Given the description of an element on the screen output the (x, y) to click on. 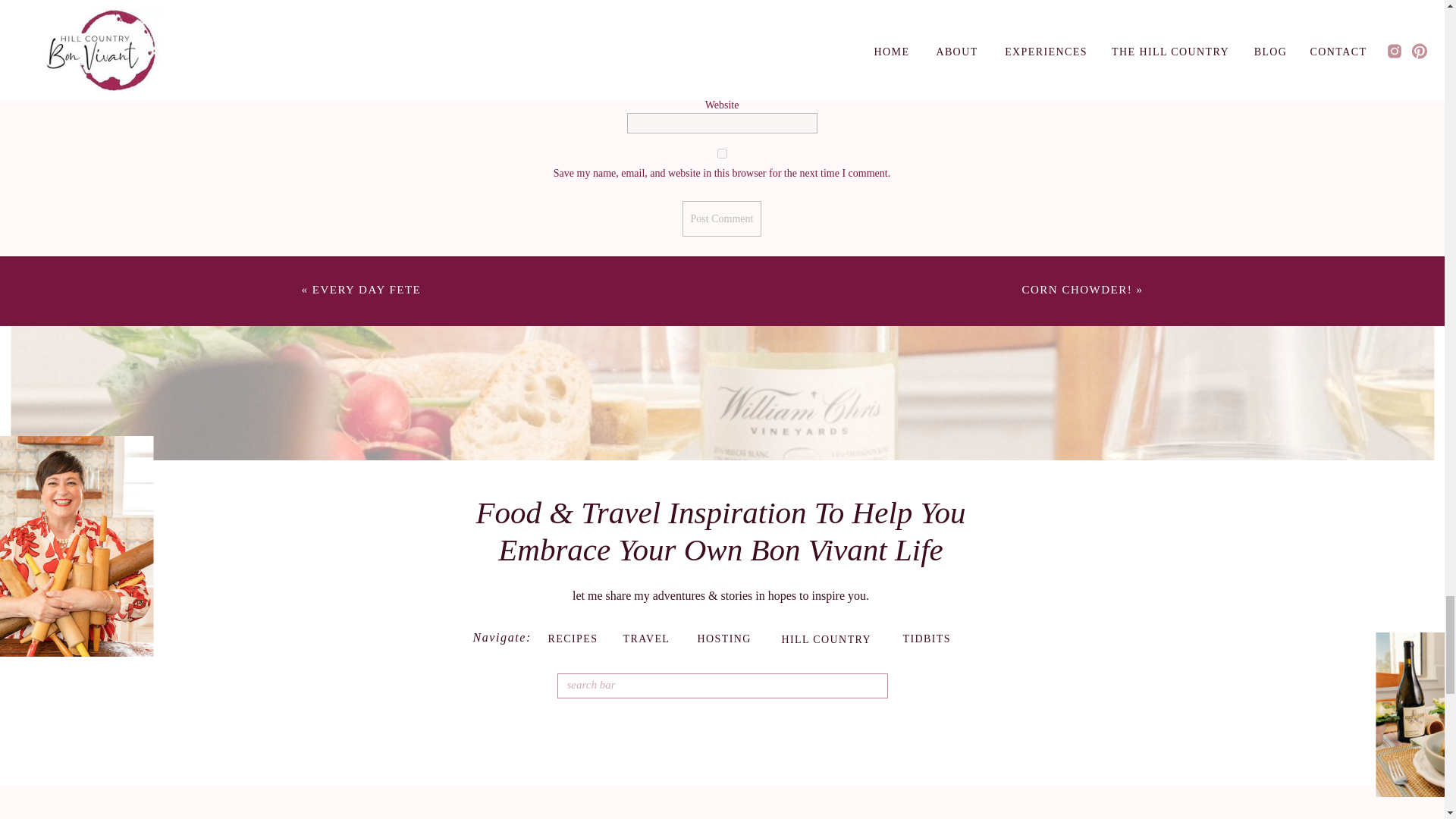
TIDBITS (937, 638)
Post Comment (721, 218)
RECIPES (577, 638)
HOSTING (728, 638)
Post Comment (721, 218)
TRAVEL (649, 638)
CORN CHOWDER! (1077, 289)
yes (721, 153)
EVERY DAY FETE (367, 289)
HILL COUNTRY (830, 642)
